Given the description of an element on the screen output the (x, y) to click on. 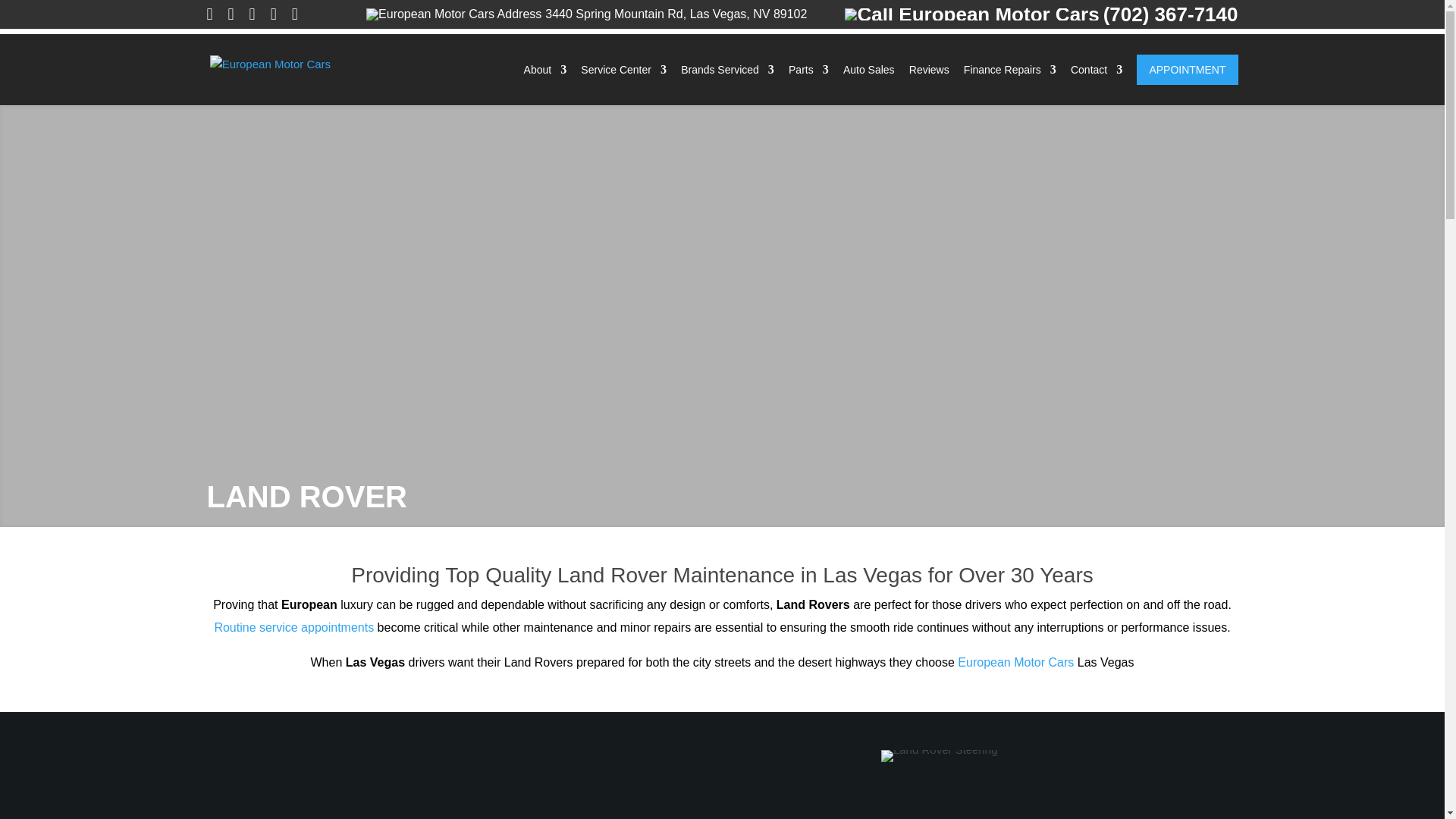
About (545, 84)
3440 Spring Mountain Rd, Las Vegas, NV 89102 (586, 14)
Brands Serviced (727, 84)
Parts (808, 84)
Service Center (623, 84)
